Given the description of an element on the screen output the (x, y) to click on. 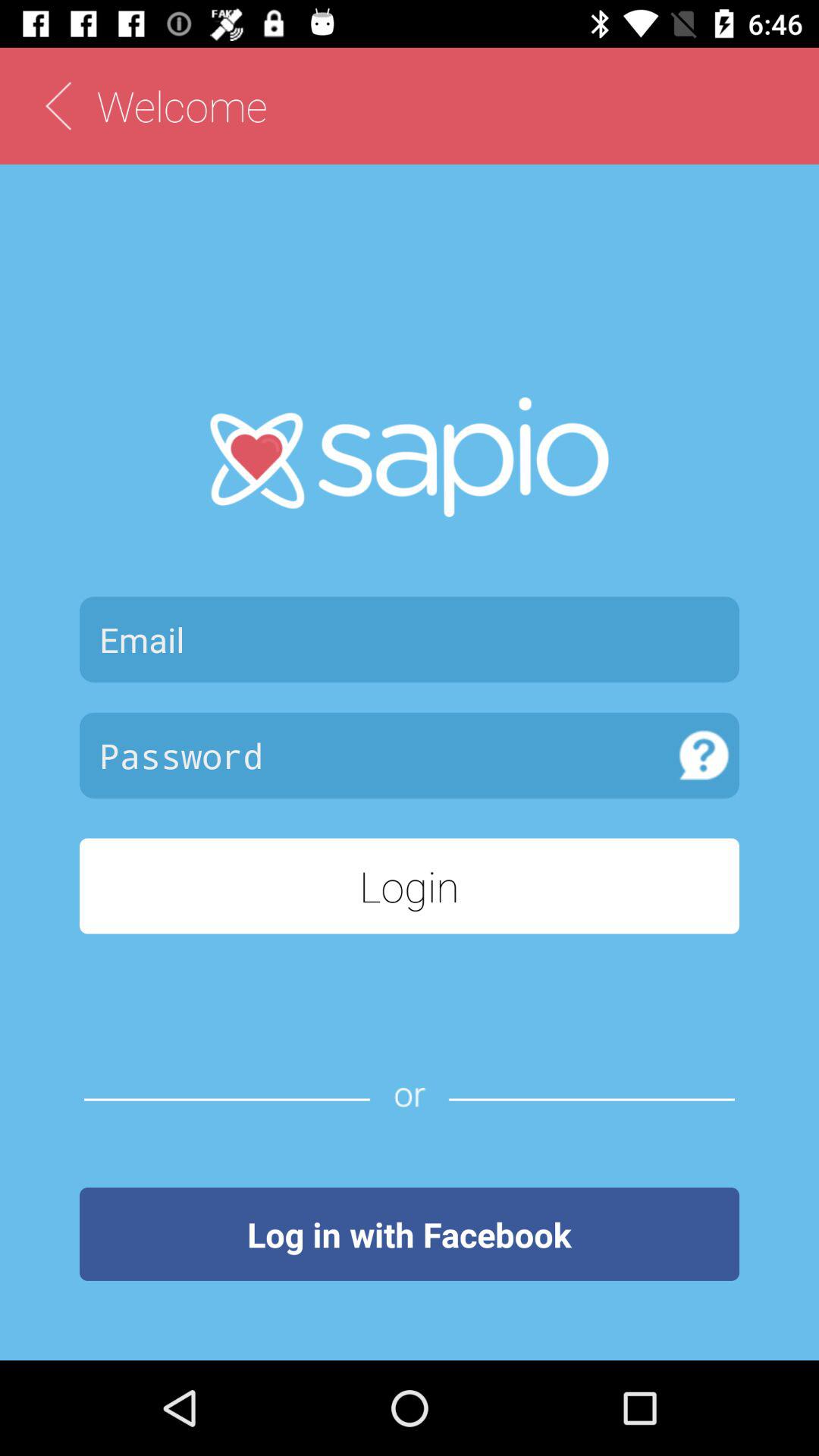
press the item to the left of the welcome item (57, 105)
